Given the description of an element on the screen output the (x, y) to click on. 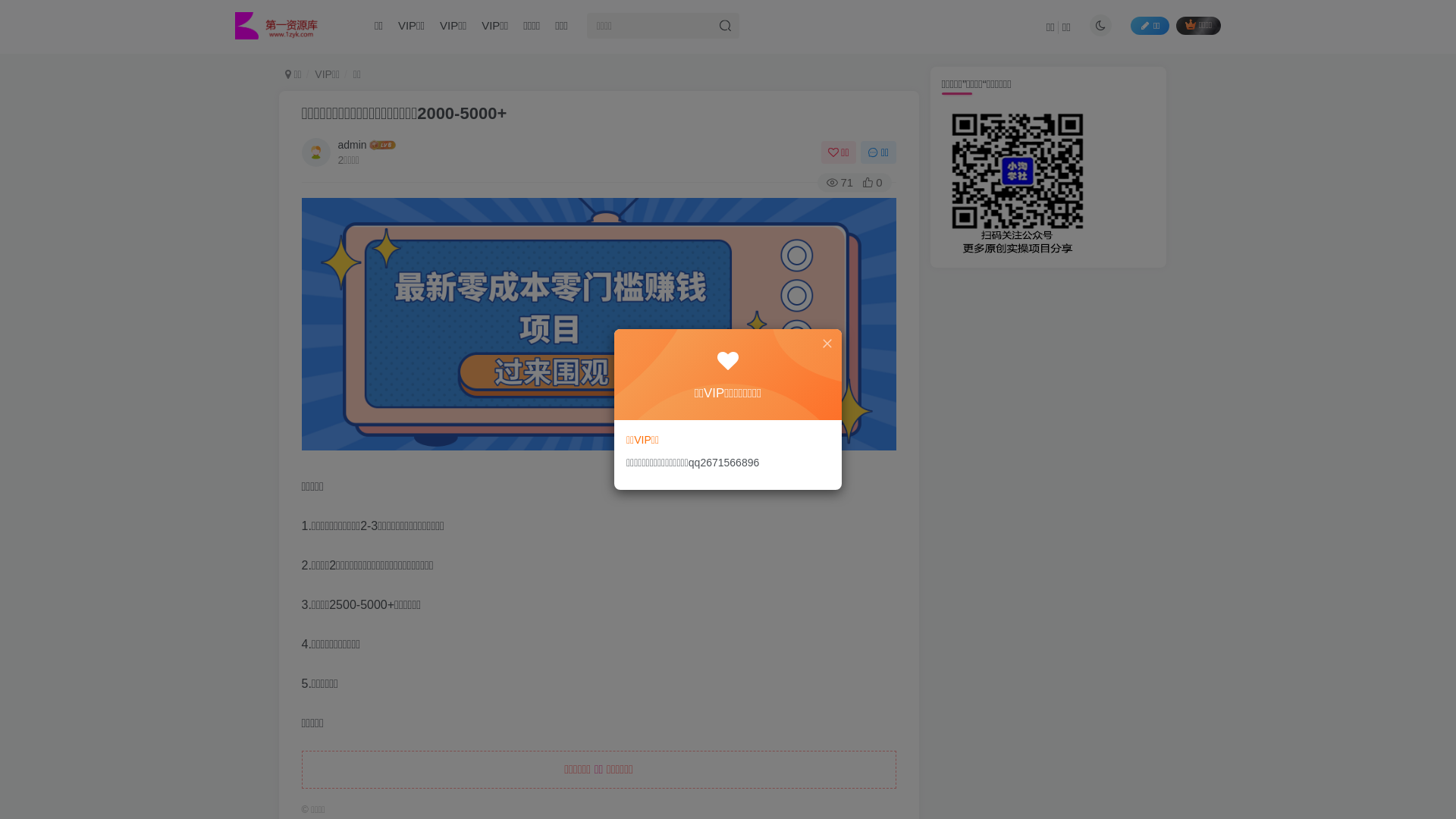
admin Element type: text (352, 144)
